Given the description of an element on the screen output the (x, y) to click on. 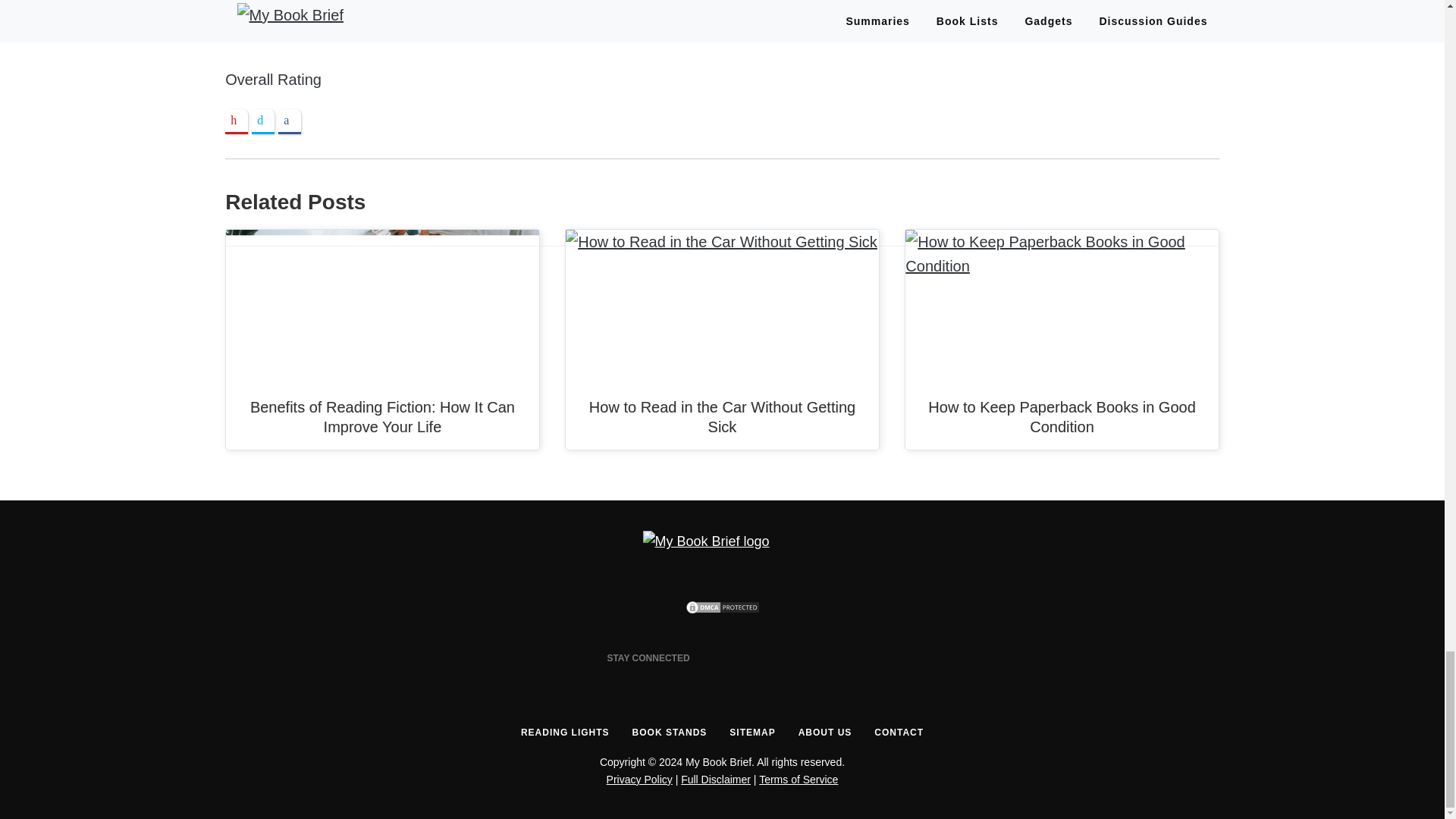
How to Read a Book a Week: Tips and Strategies (454, 33)
How Much Should You Read a Day: Expert Recommendations (865, 33)
Share on Facebook (289, 121)
Share on Twitter (263, 121)
